Given the description of an element on the screen output the (x, y) to click on. 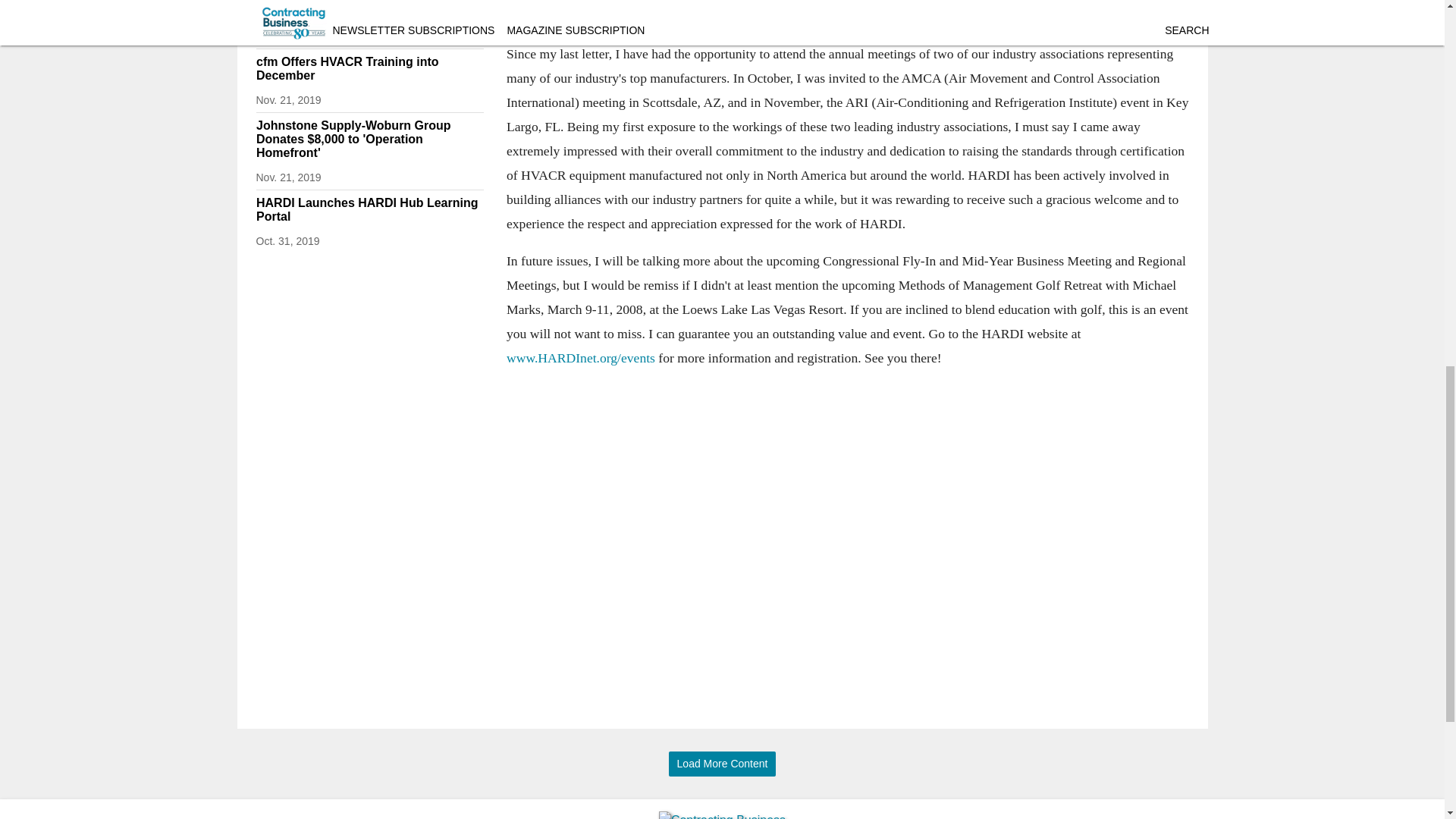
Frigidaire Heat Pump (307, 17)
Load More Content (722, 763)
Nortek Global HVAC Names Distributor for DFW Metro (424, 9)
HARDI Launches HARDI Hub Learning Portal (369, 209)
cfm Offers HVACR Training into December (369, 68)
